Given the description of an element on the screen output the (x, y) to click on. 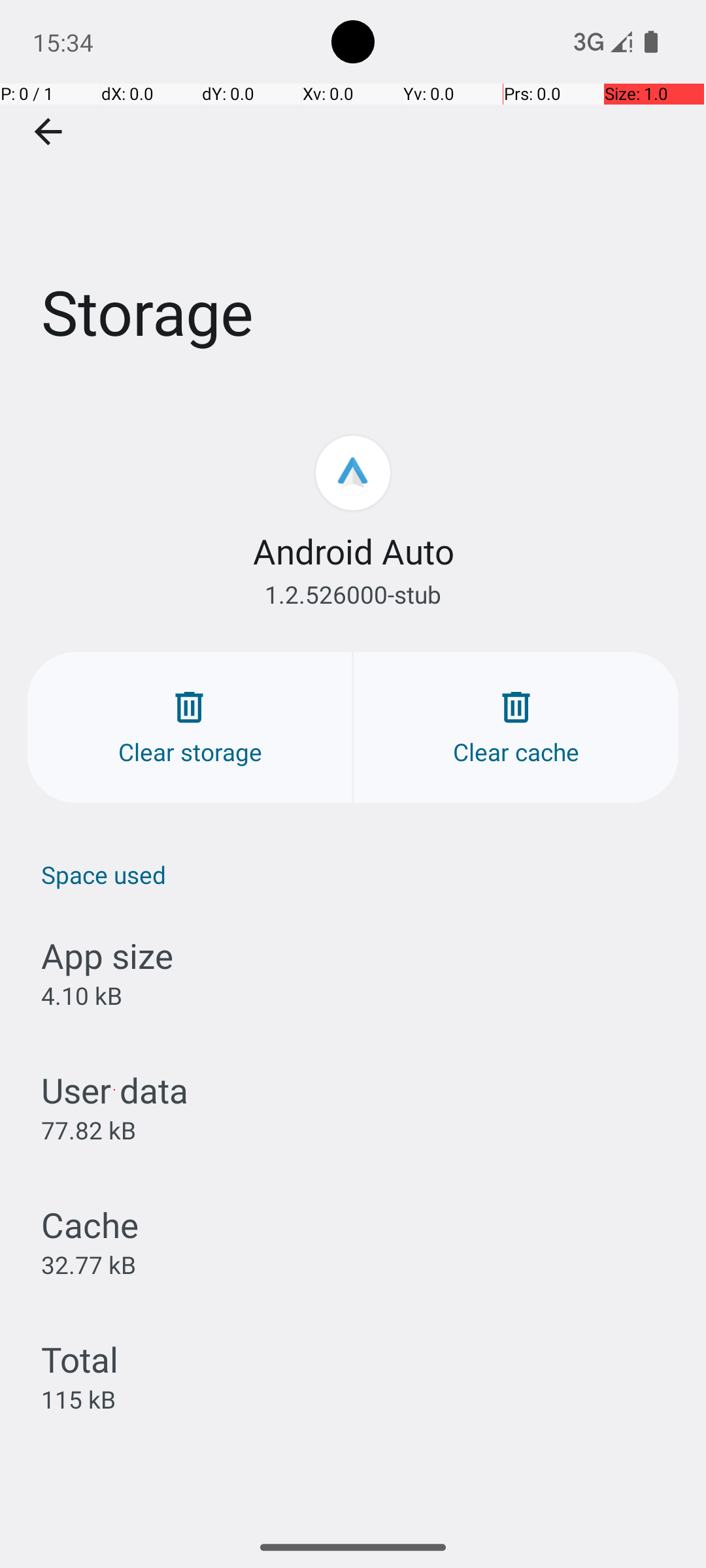
1.2.526000-stub Element type: android.widget.TextView (352, 593)
4.10 kB Element type: android.widget.TextView (81, 995)
77.82 kB Element type: android.widget.TextView (88, 1129)
32.77 kB Element type: android.widget.TextView (88, 1264)
115 kB Element type: android.widget.TextView (78, 1398)
